Given the description of an element on the screen output the (x, y) to click on. 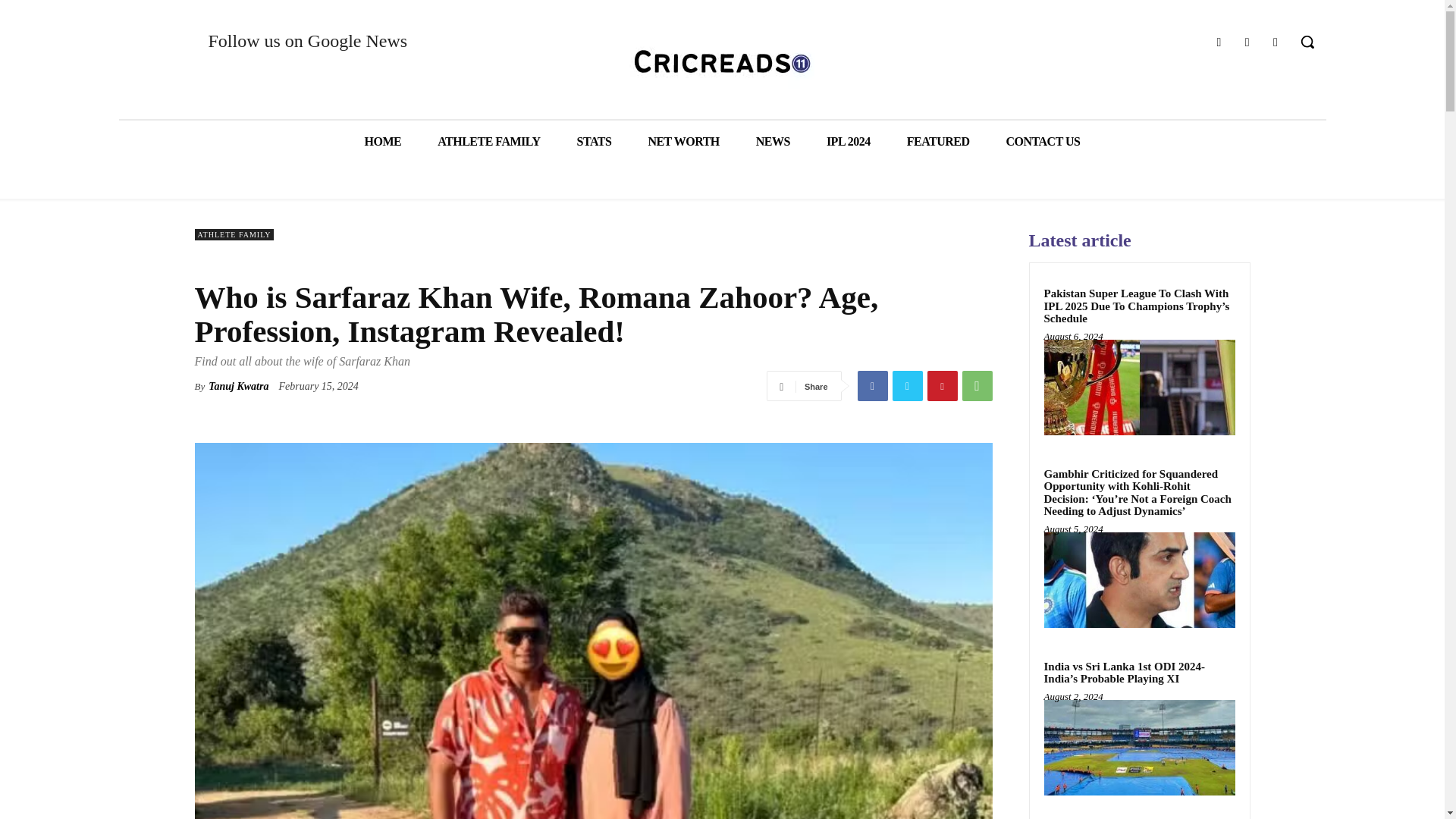
Facebook (871, 386)
ATHLETE FAMILY (488, 141)
Facebook (1218, 41)
ATHLETE FAMILY (233, 234)
STATS (594, 141)
Instagram (1246, 41)
CONTACT US (1043, 141)
NET WORTH (682, 141)
FEATURED (938, 141)
Twitter (1275, 41)
